Given the description of an element on the screen output the (x, y) to click on. 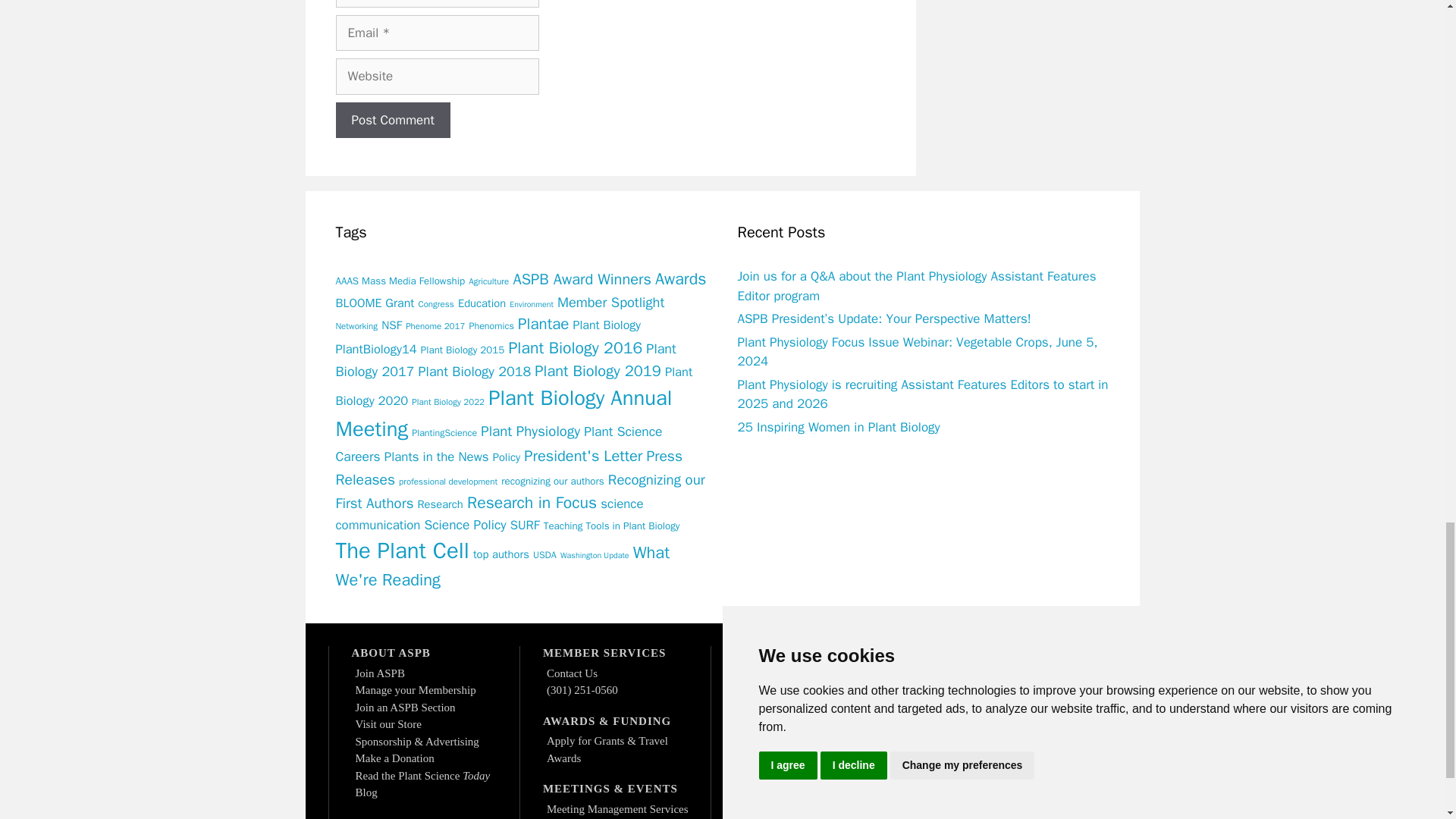
Post Comment (391, 120)
Post Comment (391, 120)
